Given the description of an element on the screen output the (x, y) to click on. 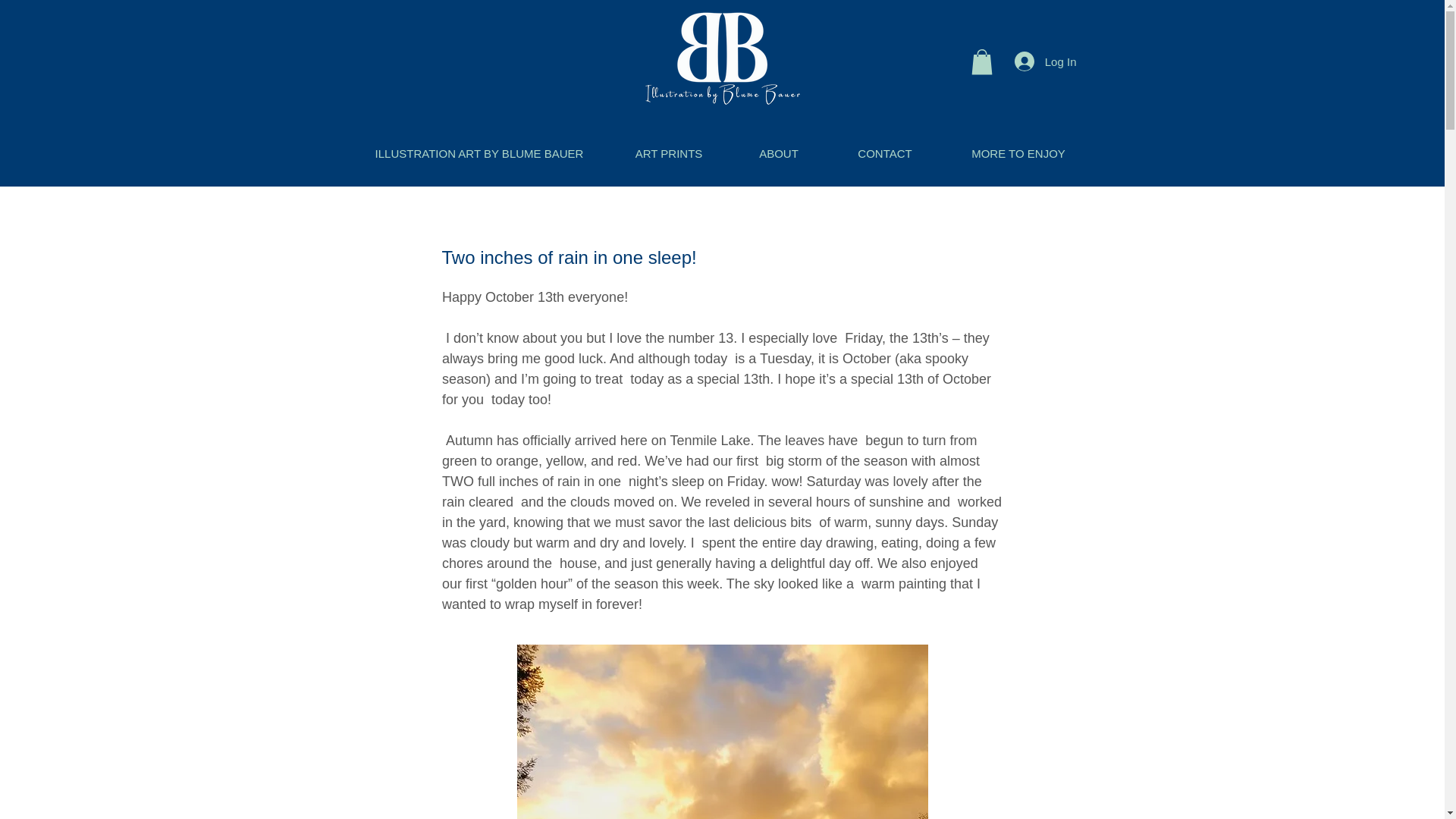
CONTACT (885, 153)
ART PRINTS (669, 153)
ILLUSTRATION ART BY BLUME BAUER (478, 153)
ABOUT (778, 153)
Log In (1045, 61)
MORE TO ENJOY (1018, 153)
